Given the description of an element on the screen output the (x, y) to click on. 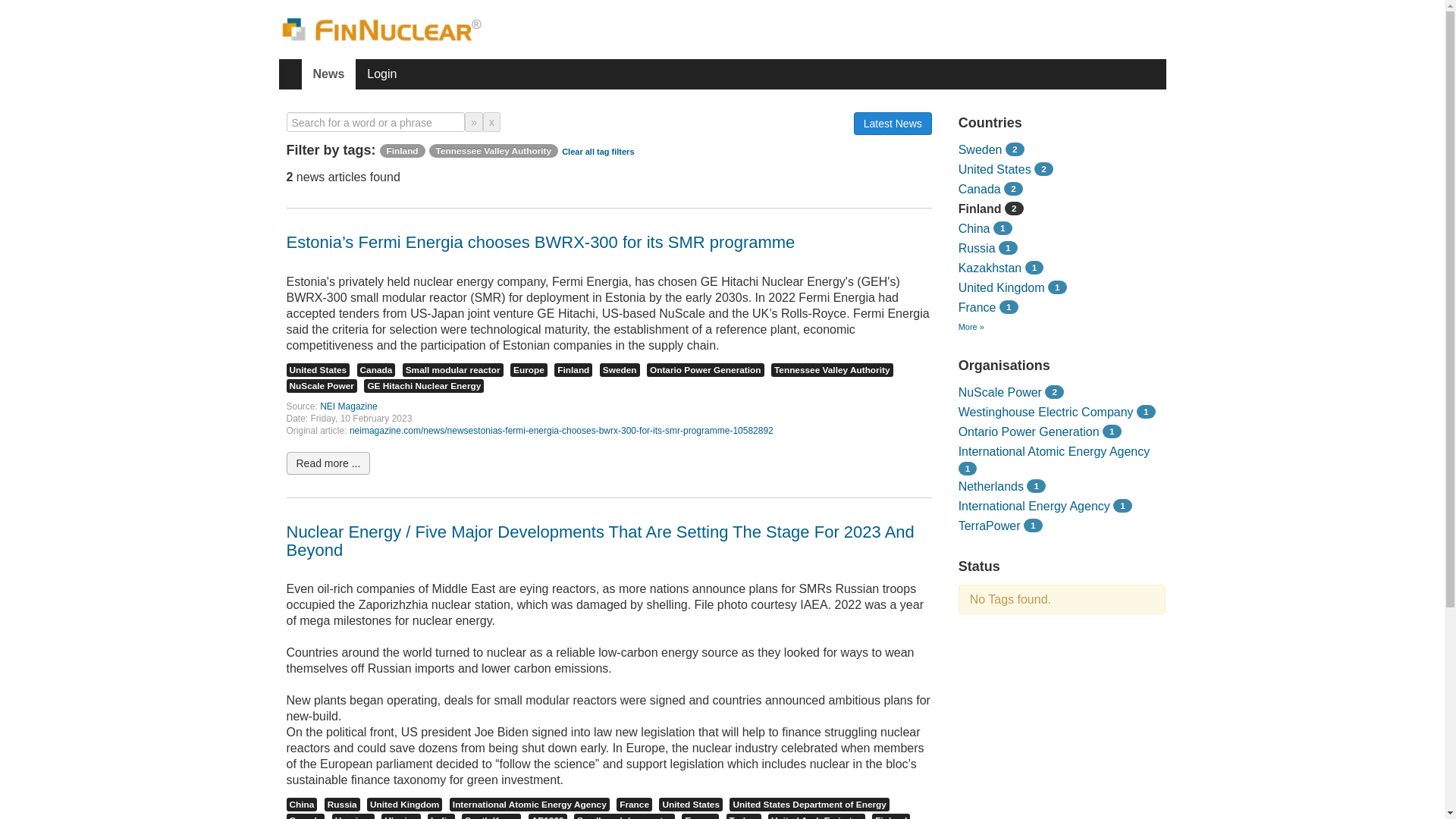
Finland (402, 150)
France (633, 804)
Russia (341, 804)
AP1000 (547, 816)
Ontario Power Generation (705, 369)
Small modular reactor (453, 369)
Clear all tag filters (597, 151)
Latest News (892, 123)
NuScale Power (321, 386)
Uranium (352, 816)
